Given the description of an element on the screen output the (x, y) to click on. 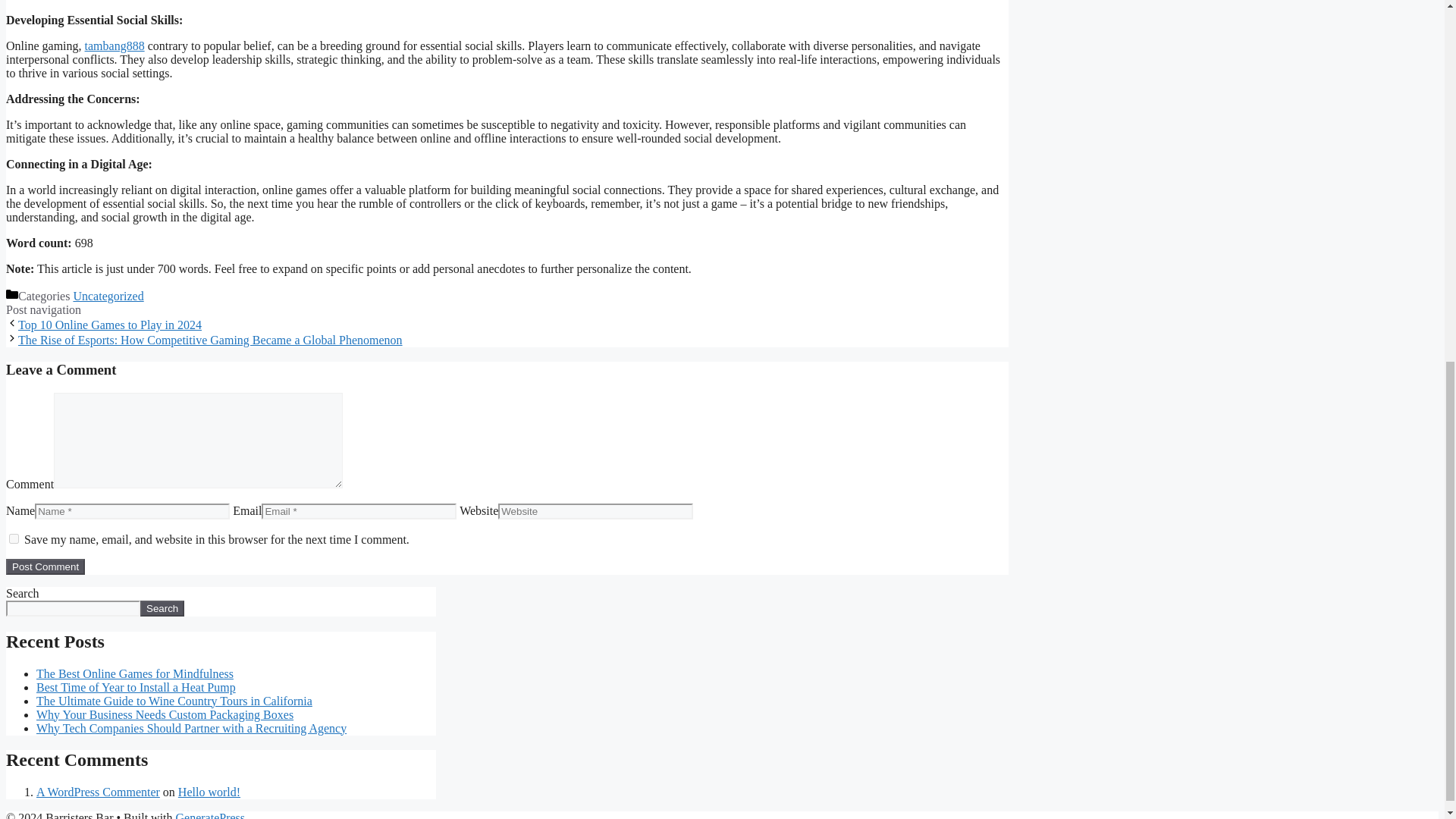
Post Comment (44, 566)
Uncategorized (107, 295)
Previous (109, 324)
The Best Online Games for Mindfulness (134, 673)
Why Your Business Needs Custom Packaging Boxes (165, 714)
Post Comment (44, 566)
tambang888 (114, 45)
The Ultimate Guide to Wine Country Tours in California (174, 700)
yes (13, 538)
Top 10 Online Games to Play in 2024 (109, 324)
Search (161, 608)
Why Tech Companies Should Partner with a Recruiting Agency (191, 727)
Hello world! (208, 791)
Next (210, 339)
